Given the description of an element on the screen output the (x, y) to click on. 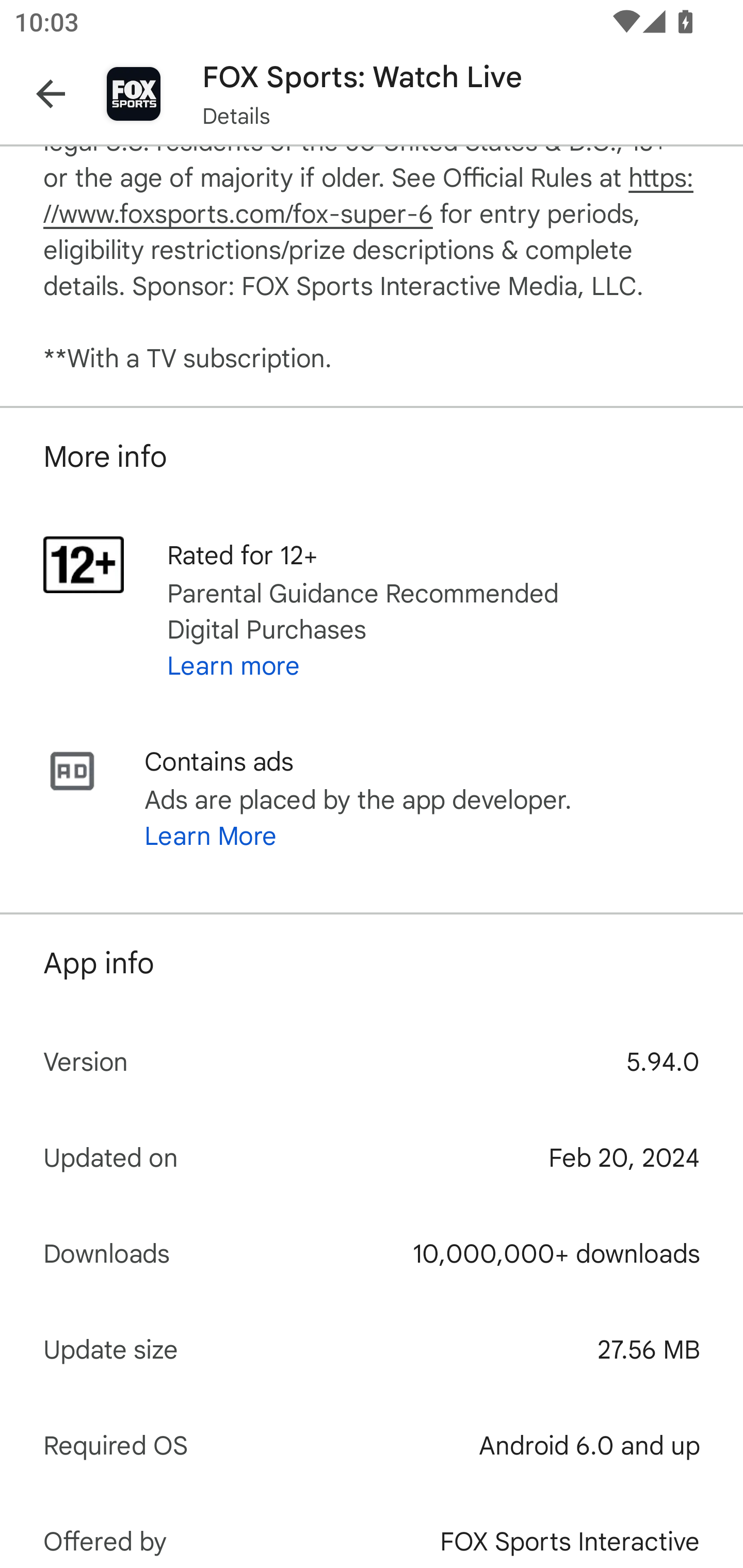
Navigate up (50, 93)
